Given the description of an element on the screen output the (x, y) to click on. 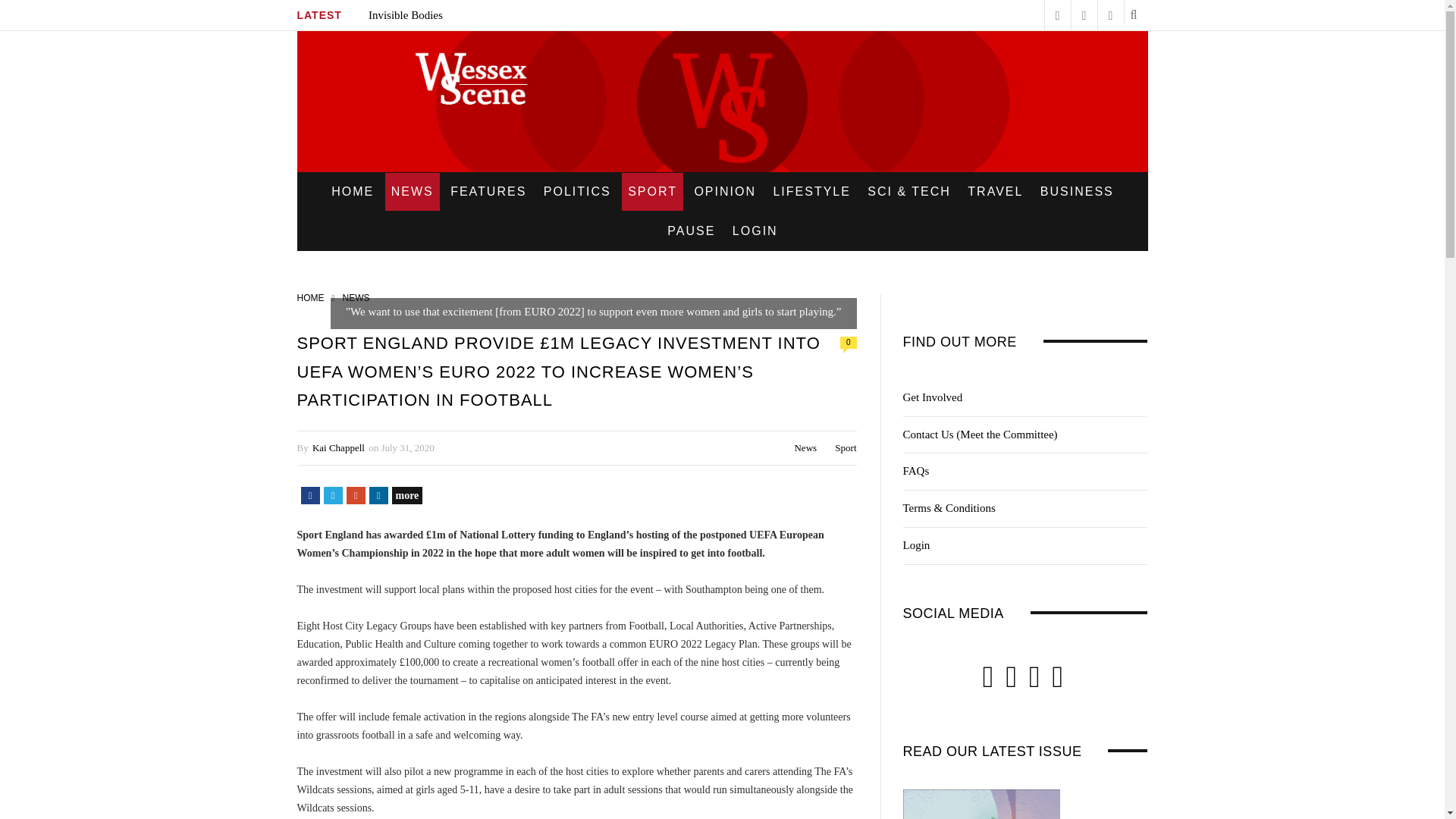
Invisible Bodies (405, 15)
LinkedIn (377, 495)
FEATURES (488, 191)
LOGIN (755, 231)
NEWS (412, 191)
Facebook (308, 495)
Twitter (332, 495)
News (804, 447)
LIFESTYLE (811, 191)
TRAVEL (994, 191)
